Given the description of an element on the screen output the (x, y) to click on. 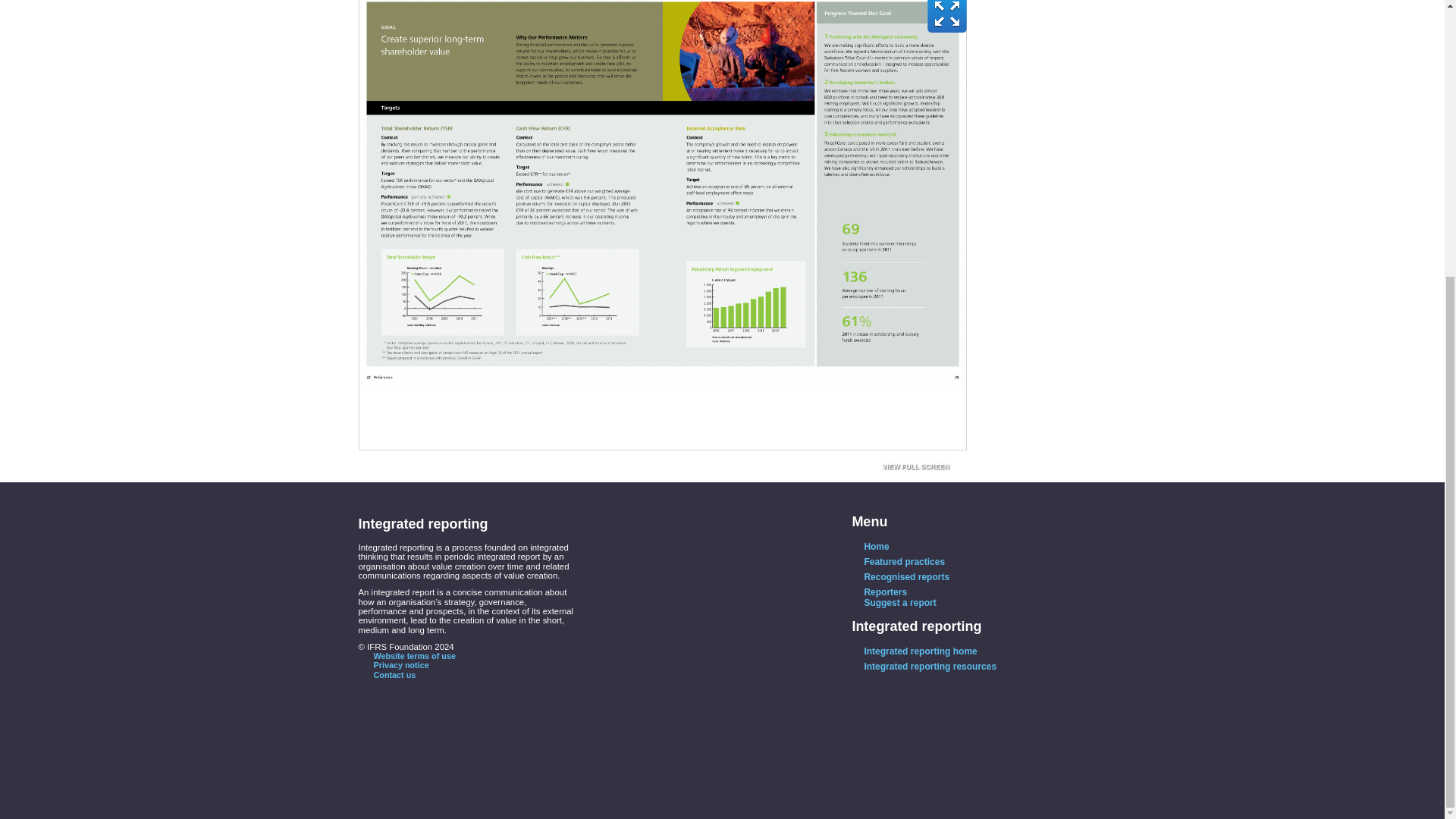
VIEW FULL SCREEN (914, 467)
Integrated reporting (916, 626)
Integrated reporting resources (923, 665)
Suggest a report (893, 602)
Website terms of use (406, 655)
Home (869, 546)
Privacy notice (393, 664)
Recognised reports (900, 576)
Featured practices (897, 561)
Integrated reporting home (913, 651)
